Given the description of an element on the screen output the (x, y) to click on. 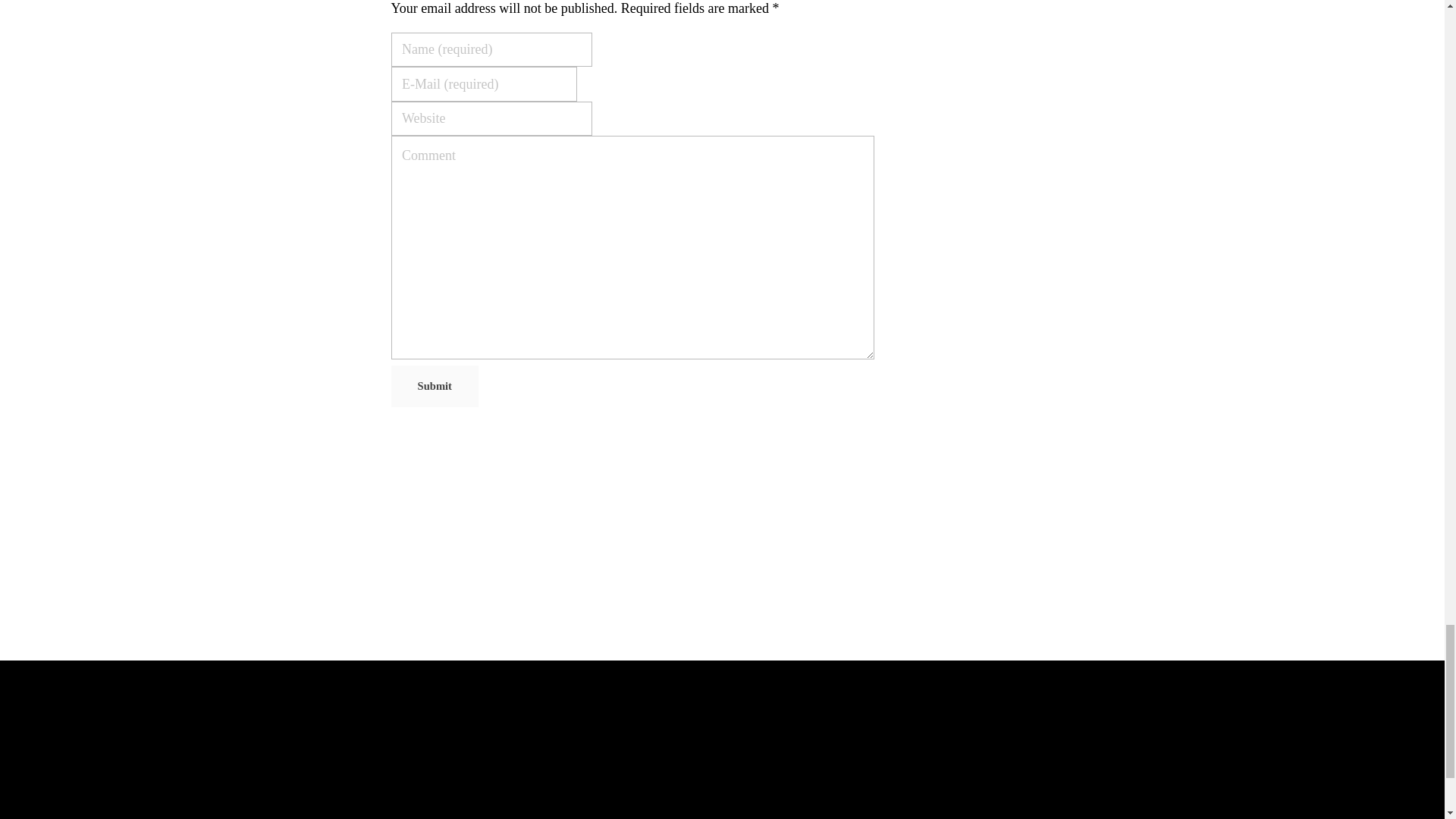
Submit (435, 386)
